Given the description of an element on the screen output the (x, y) to click on. 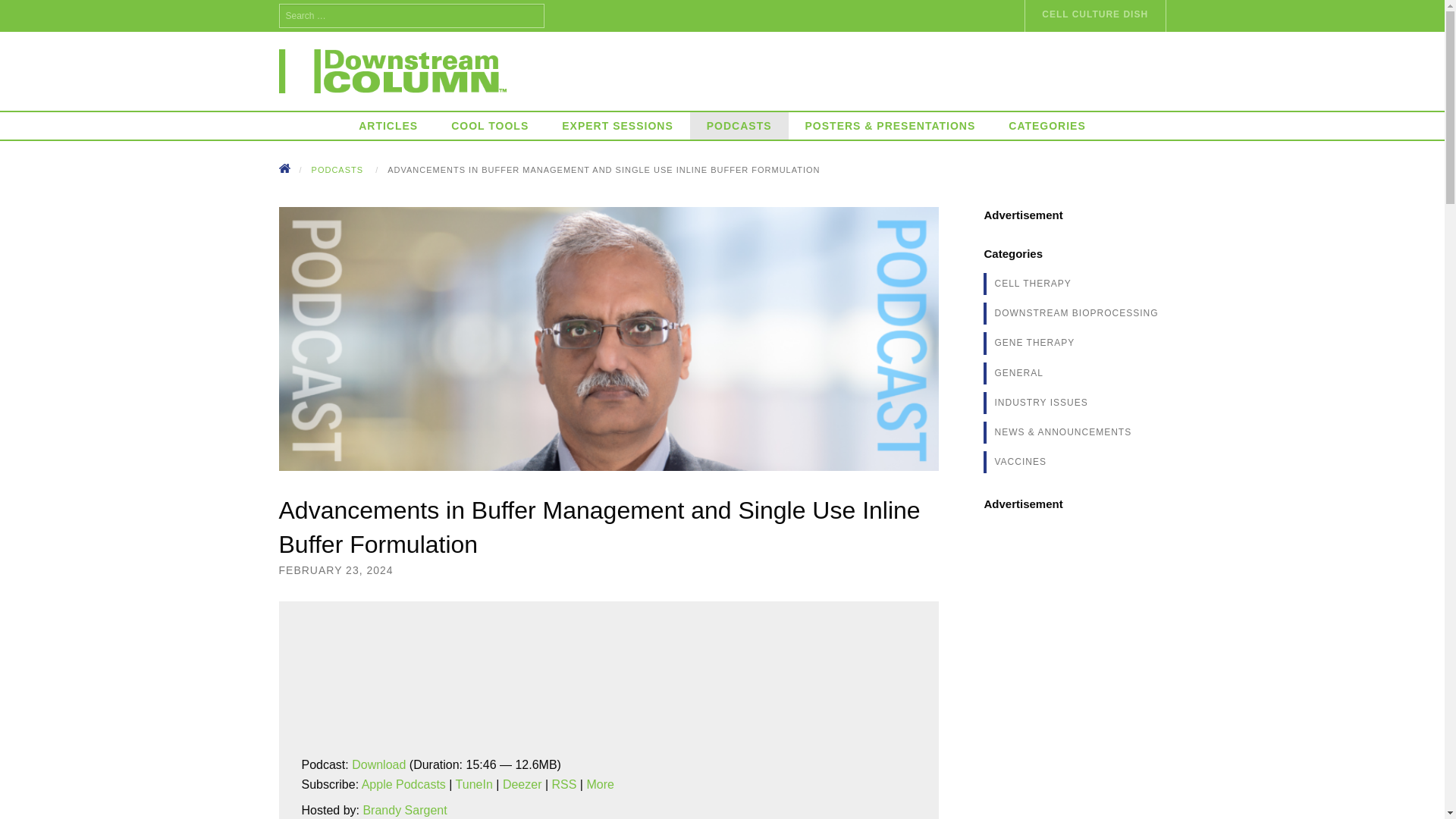
CATEGORIES (1046, 125)
COOL TOOLS (488, 125)
Deezer (521, 784)
CELL CULTURE DISH (1095, 15)
Subscribe on TuneIn (474, 784)
More (599, 784)
Subscribe on Apple Podcasts (403, 784)
Subscribe via RSS (563, 784)
Apple Podcasts (403, 784)
EXPERT SESSIONS (616, 125)
